Given the description of an element on the screen output the (x, y) to click on. 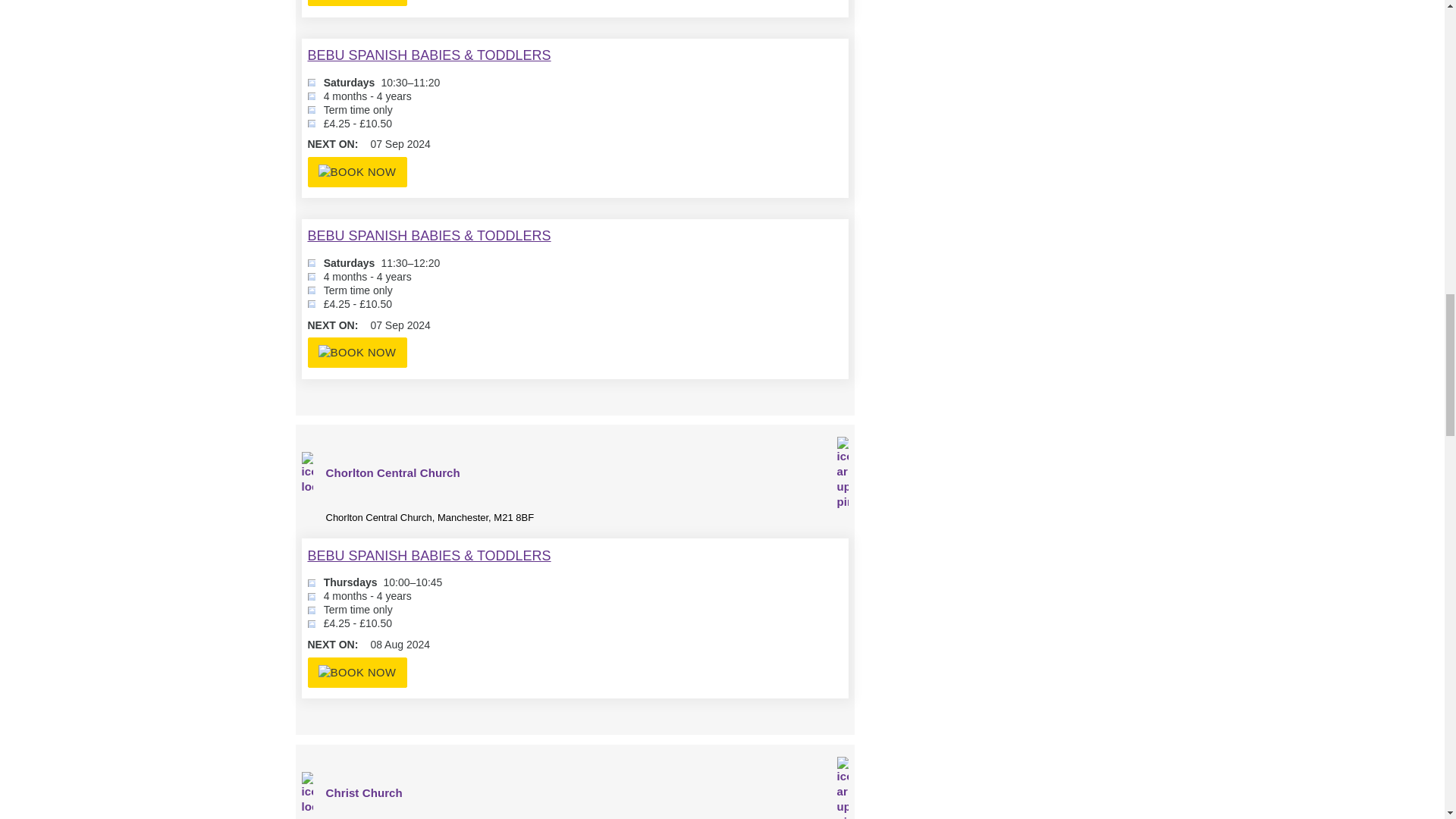
BOOK NOW (357, 2)
BOOK NOW (357, 672)
BOOK NOW (357, 352)
BOOK NOW (357, 172)
